Given the description of an element on the screen output the (x, y) to click on. 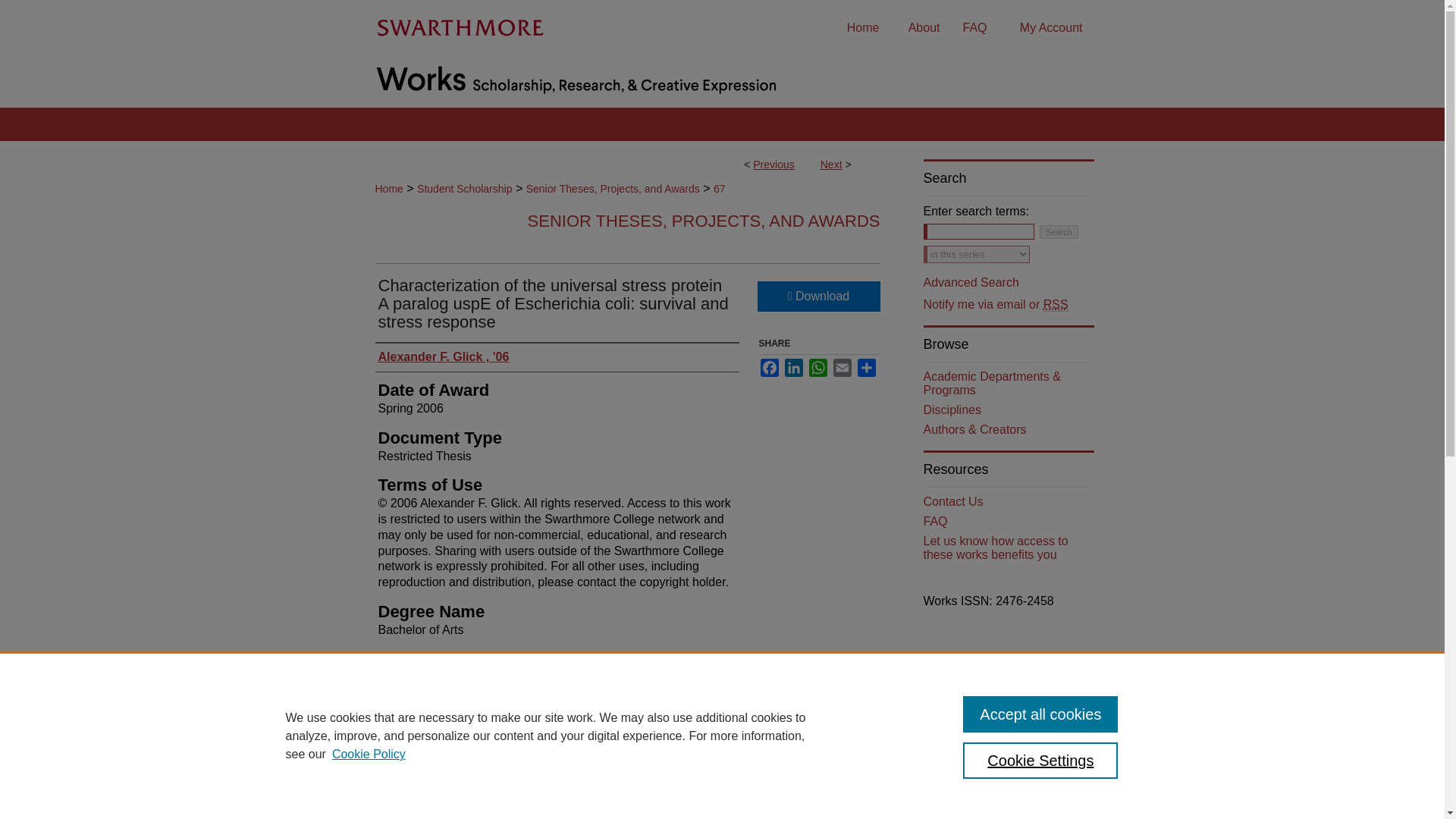
About (924, 28)
Search (1058, 232)
Home (388, 188)
Facebook (768, 367)
Search (1058, 232)
Next (832, 164)
Email or RSS Notifications (1008, 305)
LinkedIn (793, 367)
My Account (1051, 28)
Home (863, 28)
Notify me via email or RSS (1008, 305)
Contact Us (1008, 501)
Alexander F. Glick , '06 (442, 357)
Search (1058, 232)
